Given the description of an element on the screen output the (x, y) to click on. 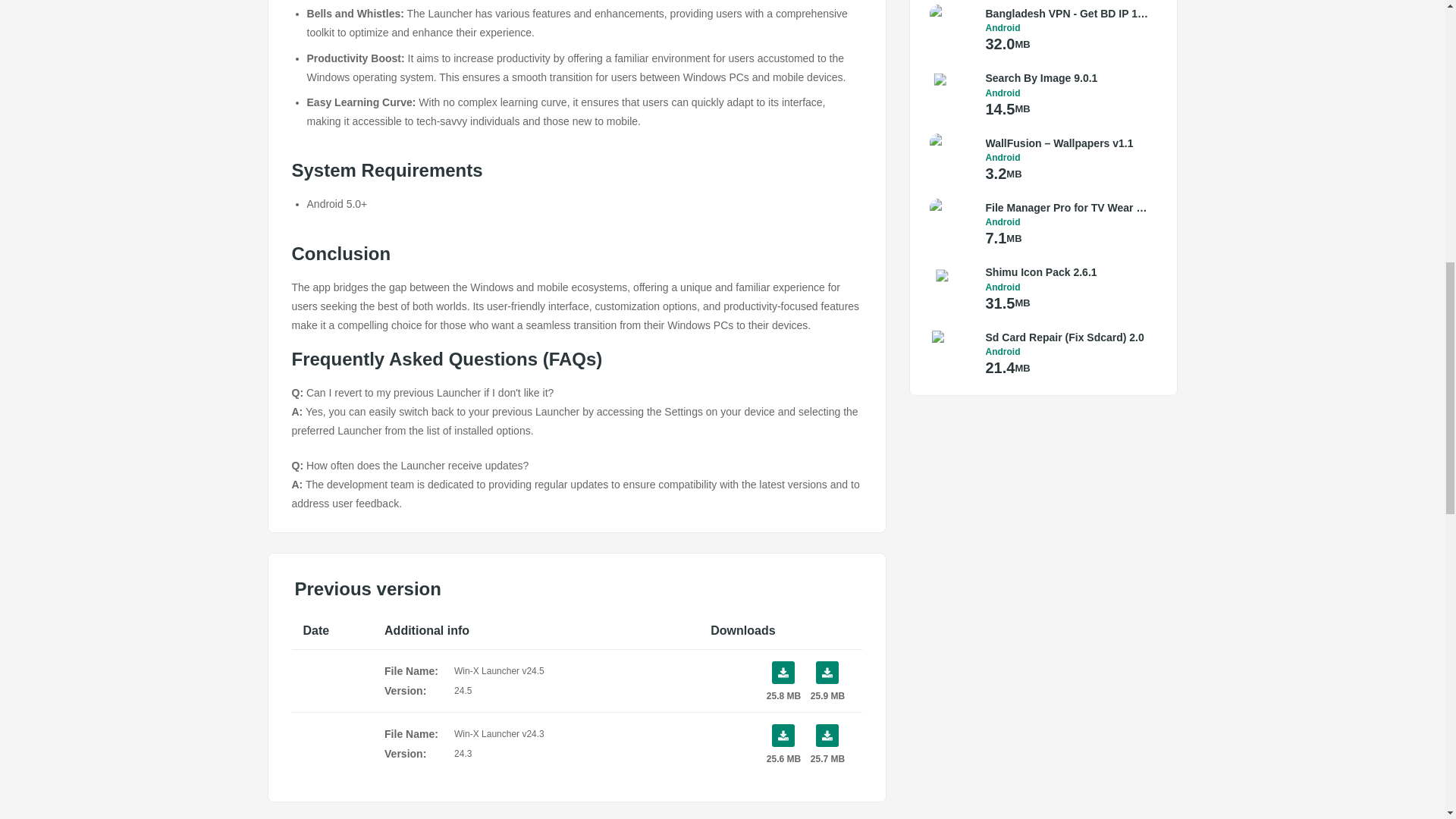
Android (1067, 286)
Search By Image 9.0.1 (1067, 77)
25.7 MB (826, 743)
25.8 MB (783, 680)
Shimu Icon Pack 2.6.1 (1067, 271)
Android (1067, 157)
Android (1067, 221)
Android (1067, 27)
25.6 MB (783, 743)
Bangladesh VPN - Get BD IP 1.0.2 (1067, 13)
25.9 MB (826, 680)
File Manager Pro for TV Wear Cloud USB OTG Cast v4.9.9 (1067, 207)
Android (1067, 92)
